Given the description of an element on the screen output the (x, y) to click on. 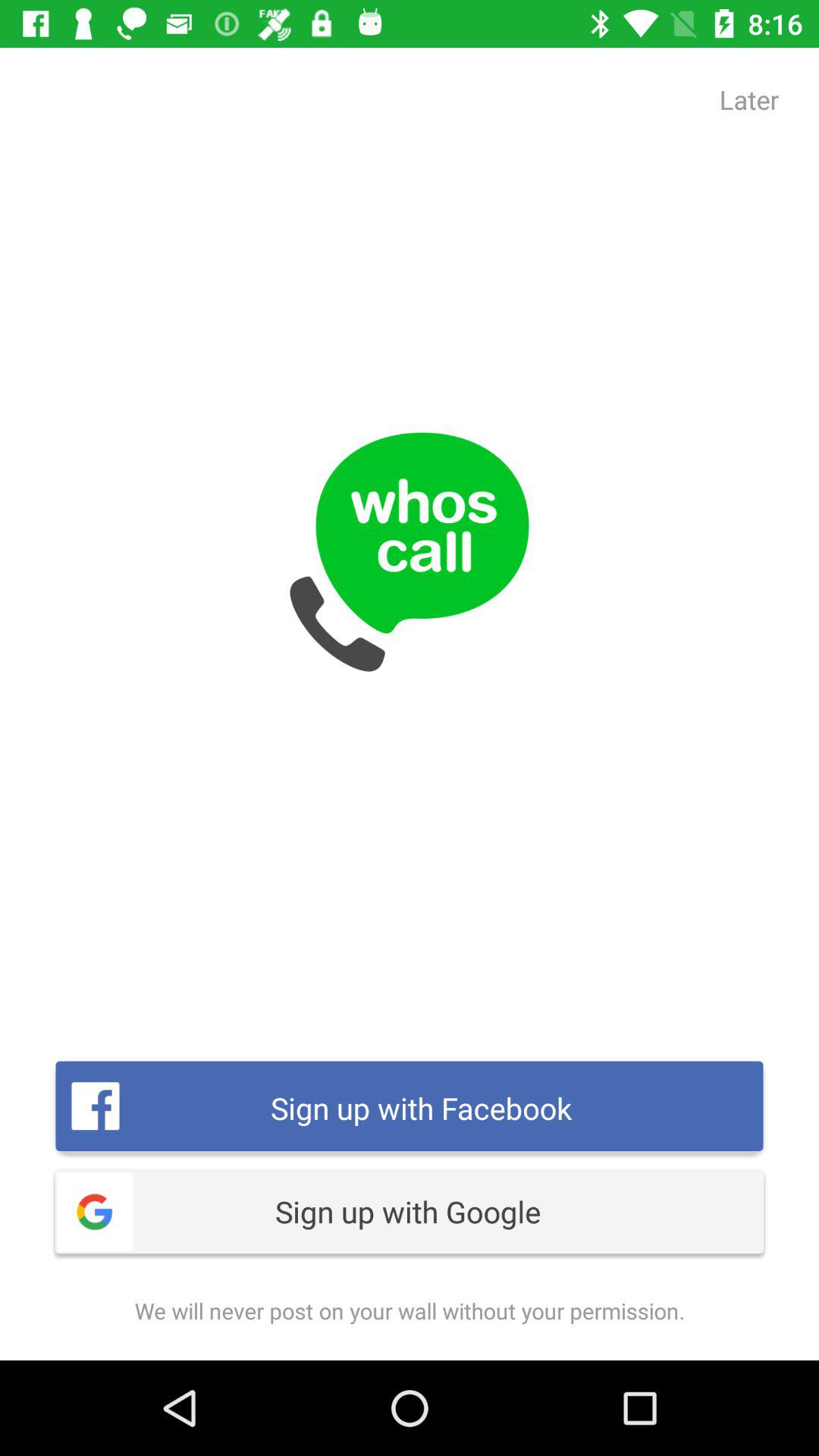
flip until later app (749, 99)
